Given the description of an element on the screen output the (x, y) to click on. 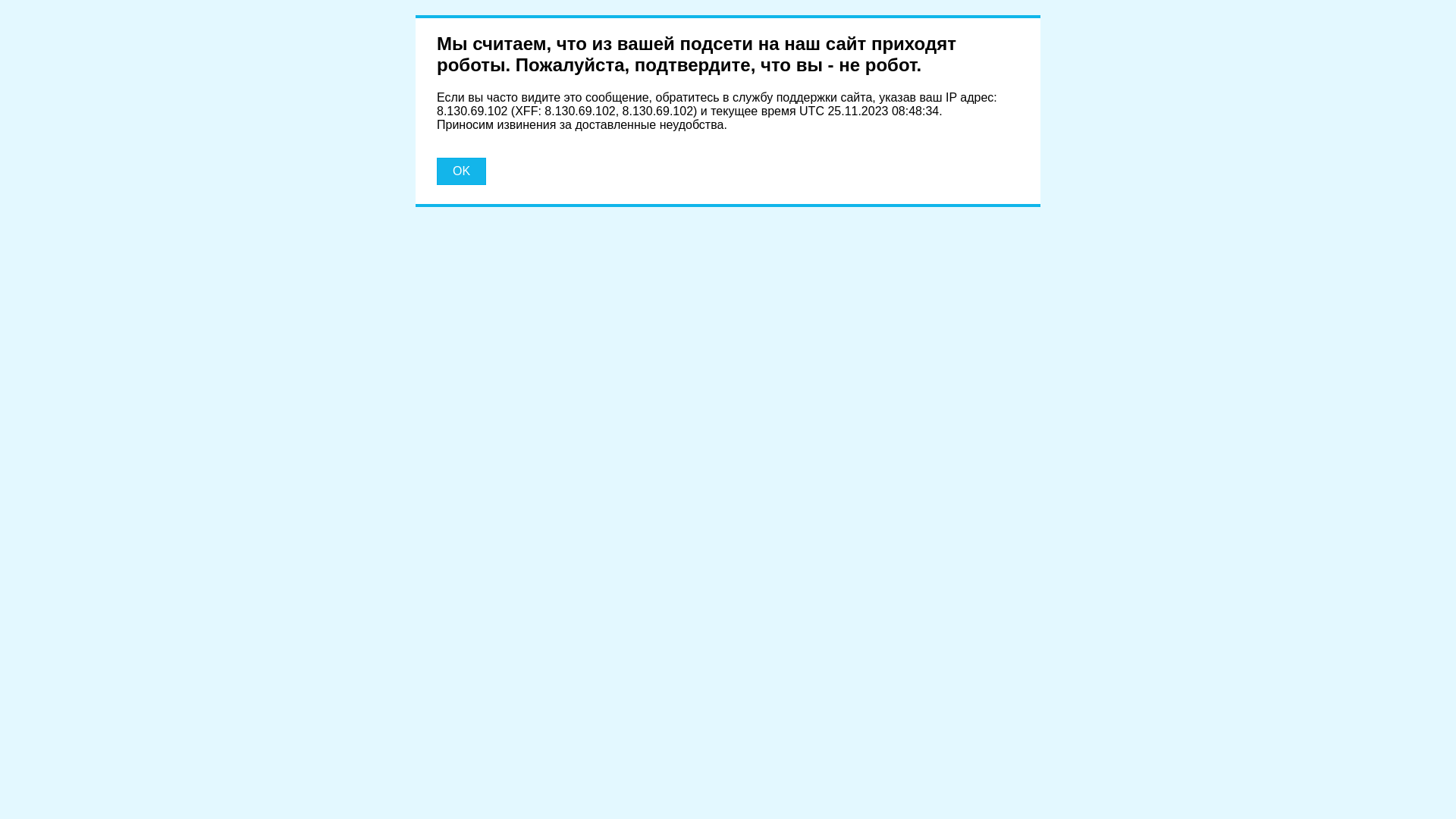
OK Element type: text (461, 171)
